Given the description of an element on the screen output the (x, y) to click on. 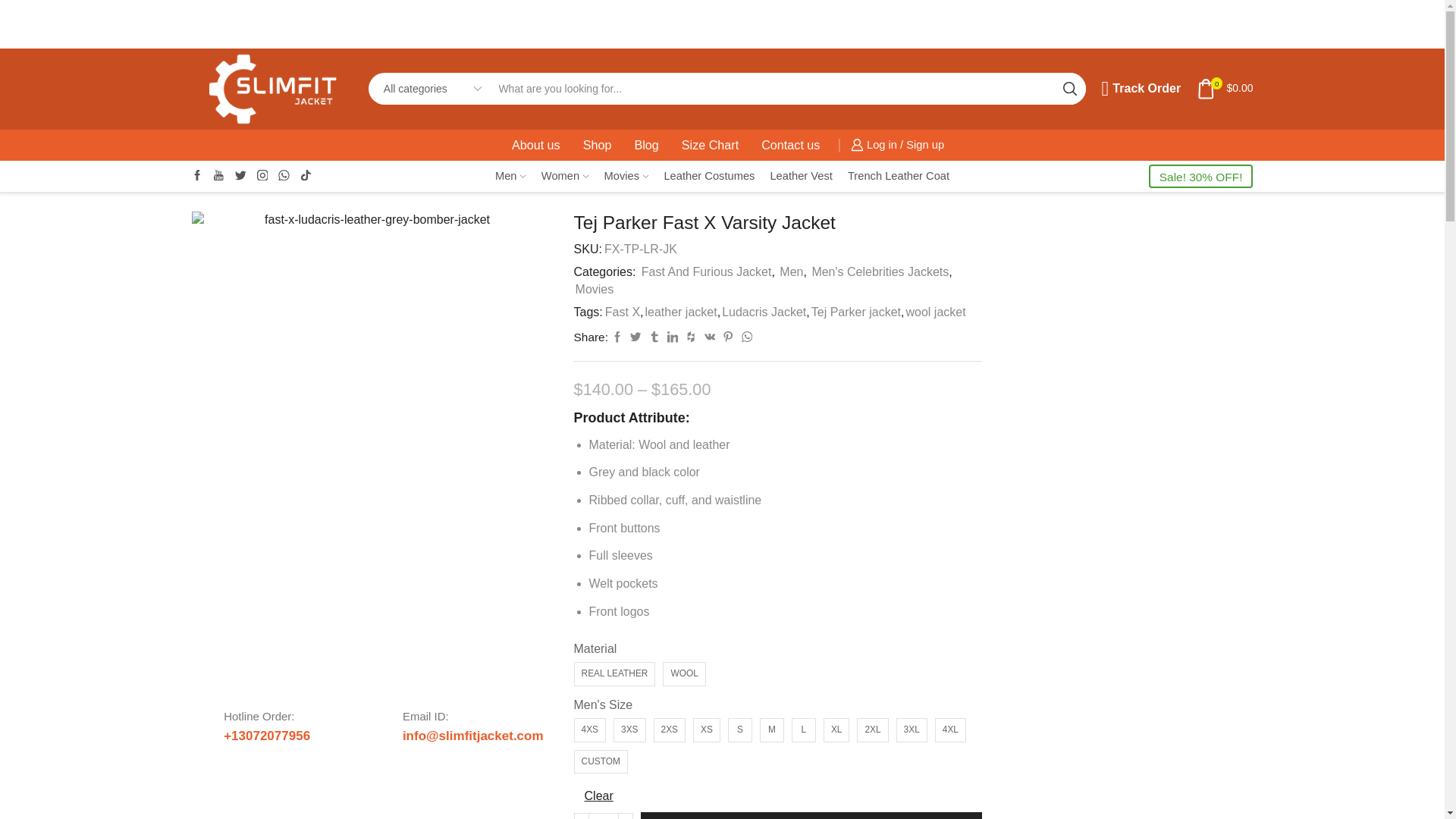
Shop (597, 144)
Trench Leather Coat (898, 175)
Size Chart (709, 144)
Leather Vest (800, 175)
Twitter (240, 175)
Youtube (218, 175)
Movies (626, 175)
Tik-tok (305, 175)
Facebook (196, 175)
Women (565, 175)
Leather Costumes (708, 175)
About us (535, 144)
1 (603, 816)
Track Order (1140, 88)
Whatssap (283, 175)
